Given the description of an element on the screen output the (x, y) to click on. 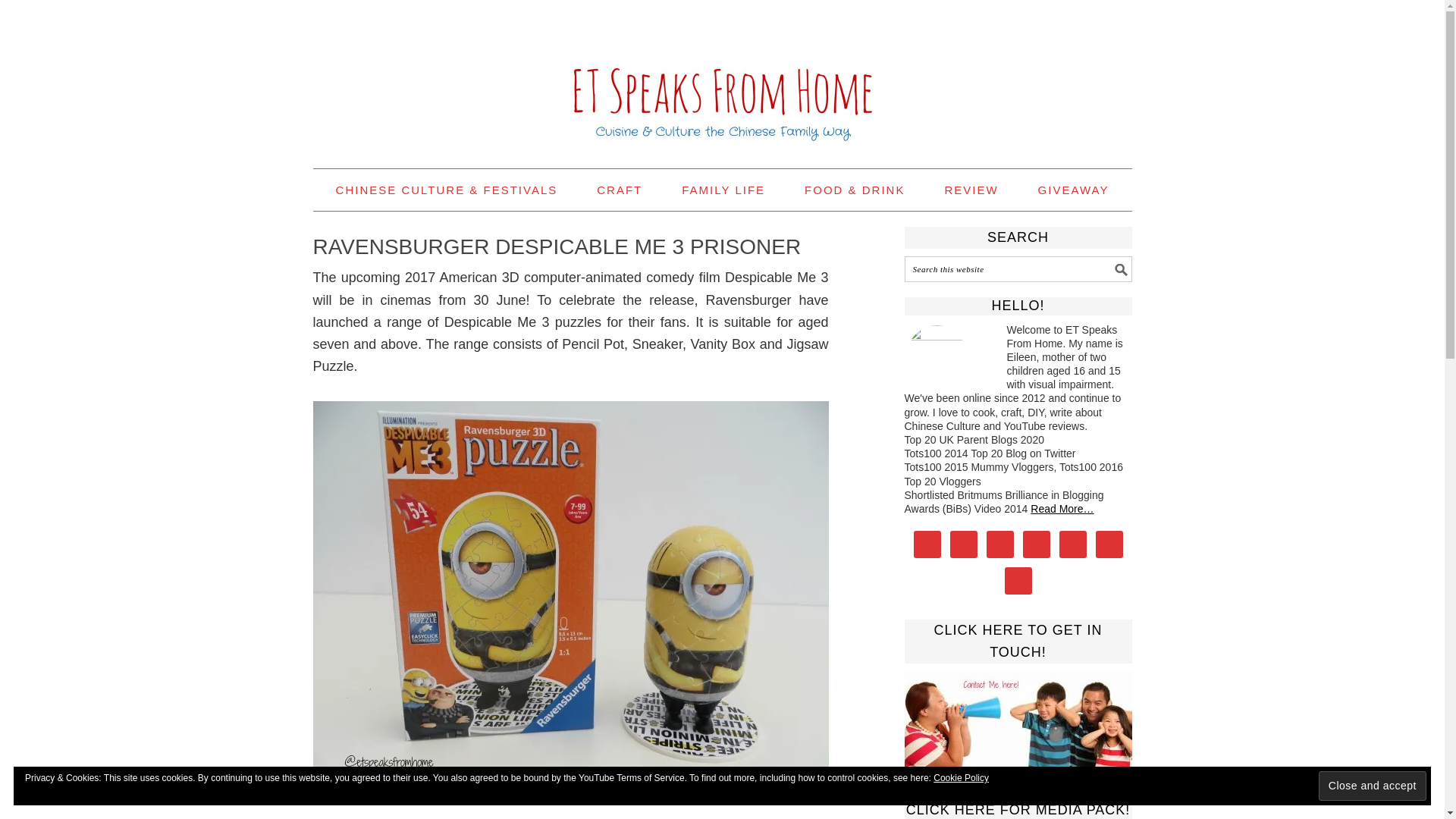
FAMILY LIFE (723, 189)
ET SPEAKS FROM HOME (722, 77)
Close and accept (1372, 785)
Click here to get in touch! (1017, 718)
REVIEW (970, 189)
CRAFT (619, 189)
